Given the description of an element on the screen output the (x, y) to click on. 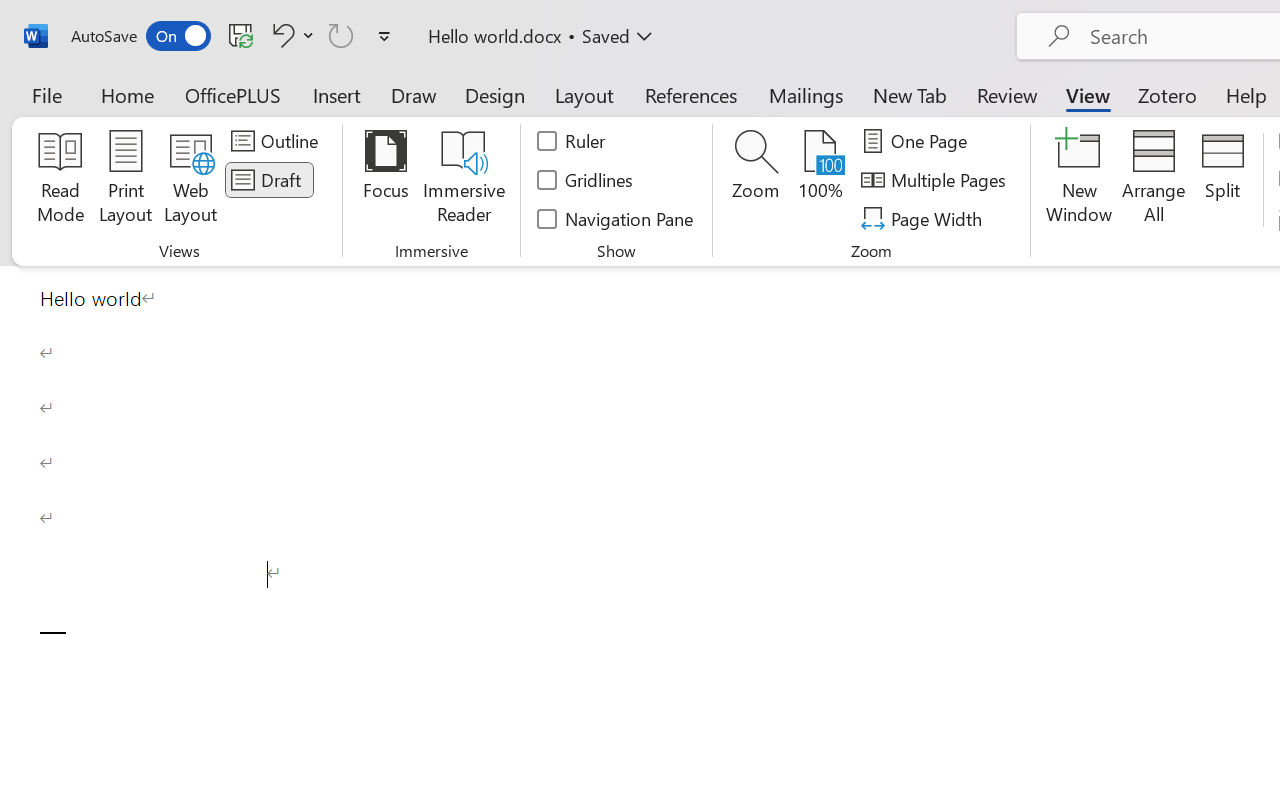
100% (820, 179)
One Page (917, 141)
Customize Quick Access Toolbar (384, 35)
Design (495, 94)
Save (241, 35)
Print Layout (125, 179)
AutoSave (140, 35)
Read Mode (60, 179)
OfficePLUS (233, 94)
Undo Paragraph Formatting (280, 35)
Web Layout (190, 179)
References (690, 94)
Gridlines (586, 179)
Navigation Pane (616, 218)
